Given the description of an element on the screen output the (x, y) to click on. 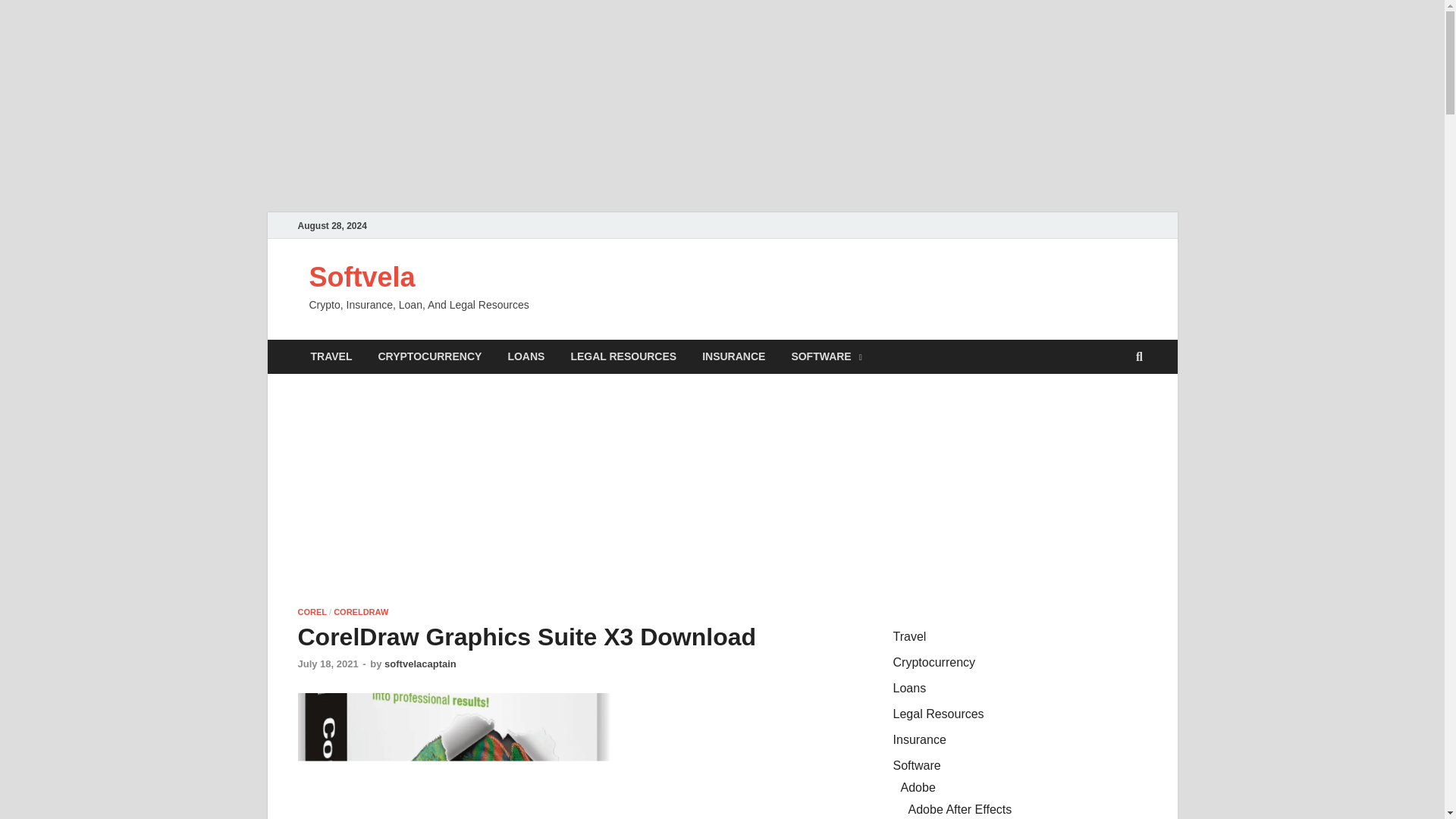
LOANS (526, 356)
July 18, 2021 (327, 663)
TRAVEL (331, 356)
COREL (311, 611)
Softvela (361, 276)
INSURANCE (732, 356)
LEGAL RESOURCES (622, 356)
CORELDRAW (360, 611)
CRYPTOCURRENCY (430, 356)
SOFTWARE (826, 356)
